Given the description of an element on the screen output the (x, y) to click on. 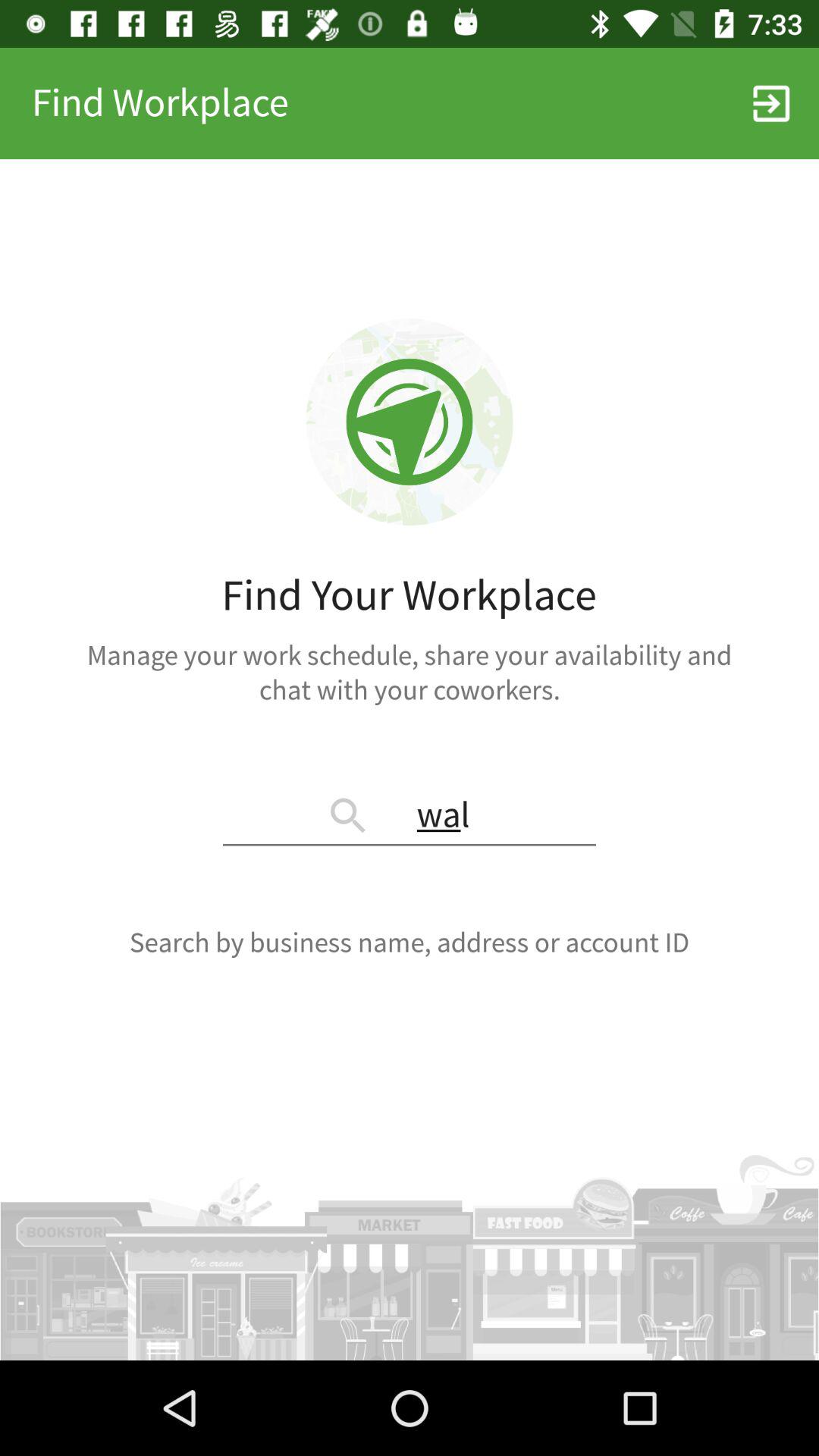
select item above the manage your work icon (771, 103)
